Given the description of an element on the screen output the (x, y) to click on. 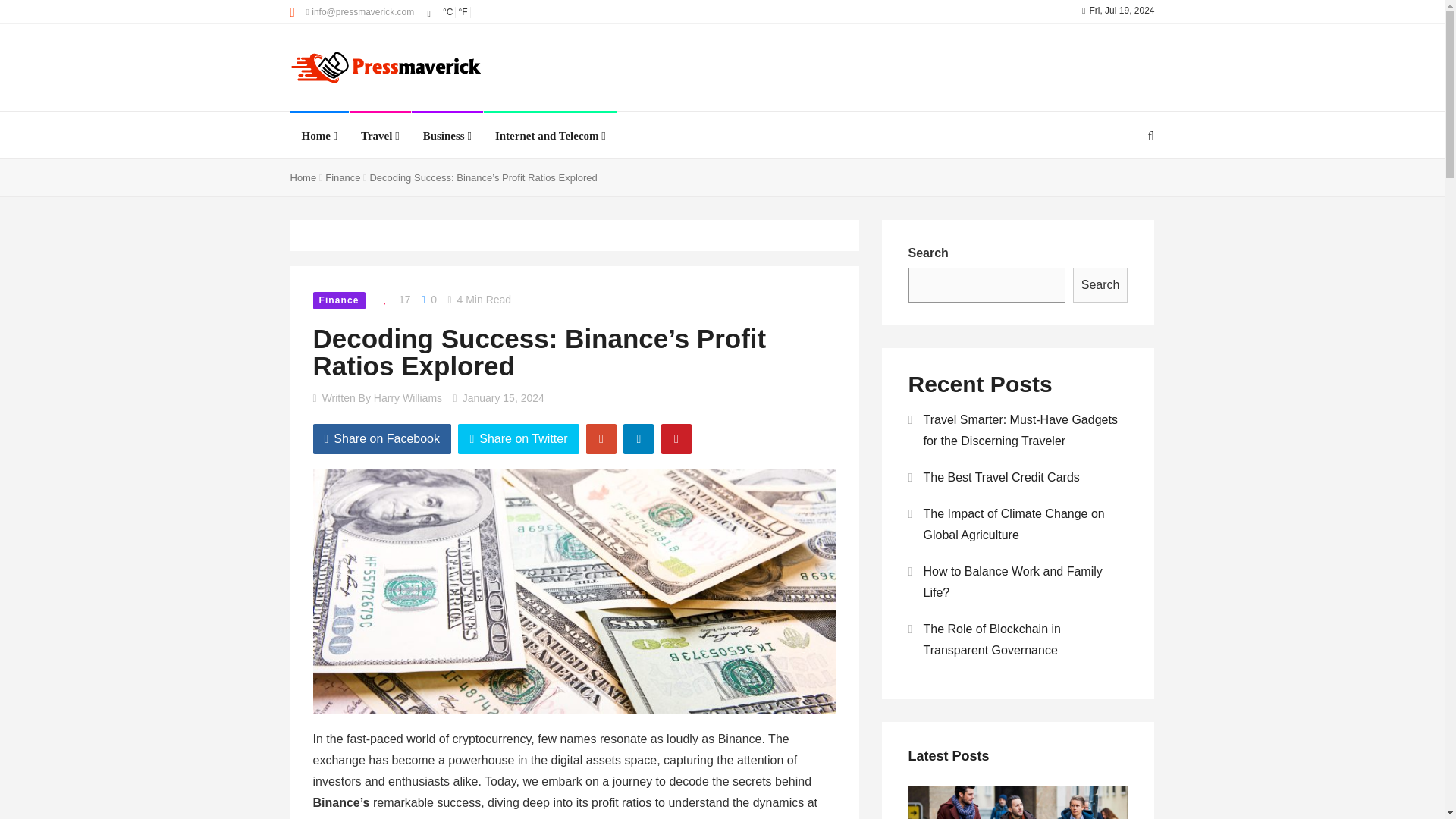
Share on Linkedin! (638, 439)
Business (447, 135)
Share on Facebook! (382, 439)
Share on Twitter! (518, 439)
Internet and Telecom (550, 135)
Share on Pinterest! (676, 439)
The Impact of Climate Change on Global Agriculture (14, 632)
Pressmaverick (384, 69)
Like this (392, 299)
